Given the description of an element on the screen output the (x, y) to click on. 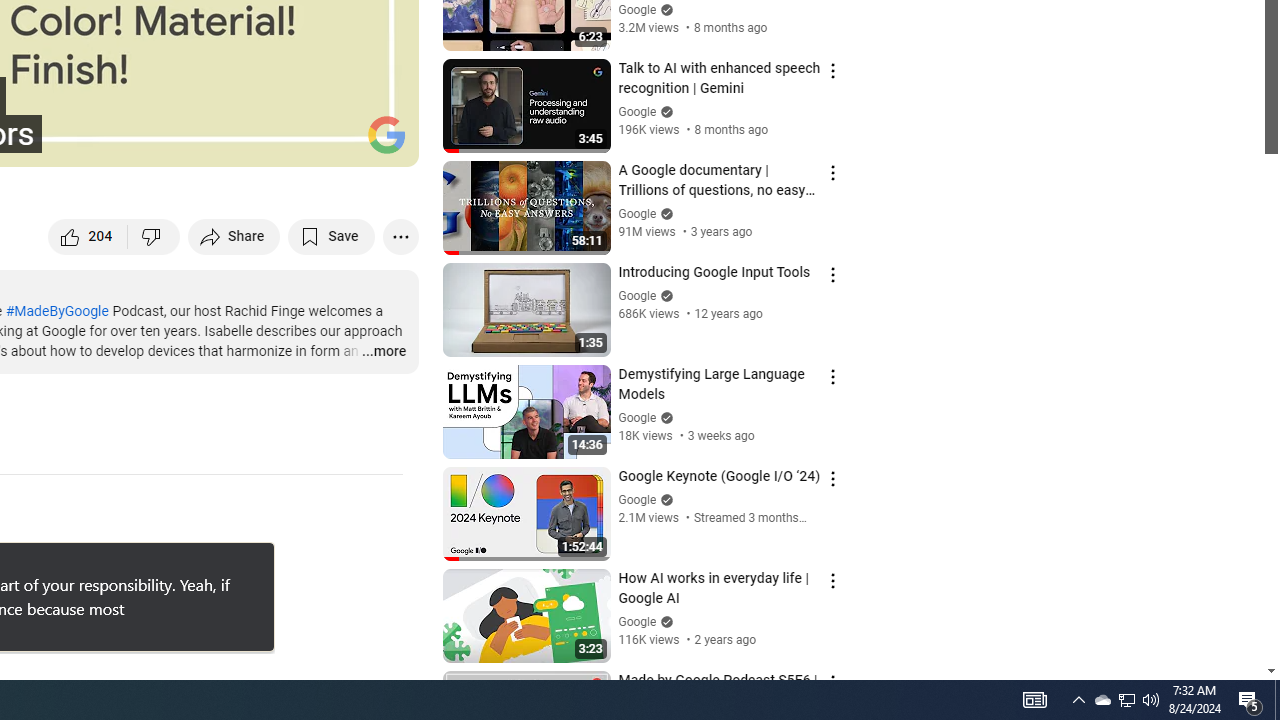
Back to tab (232, 560)
Miniplayer (i) (286, 142)
Channel watermark (386, 134)
Save to playlist (331, 236)
Q2790: 100% (1151, 699)
